Given the description of an element on the screen output the (x, y) to click on. 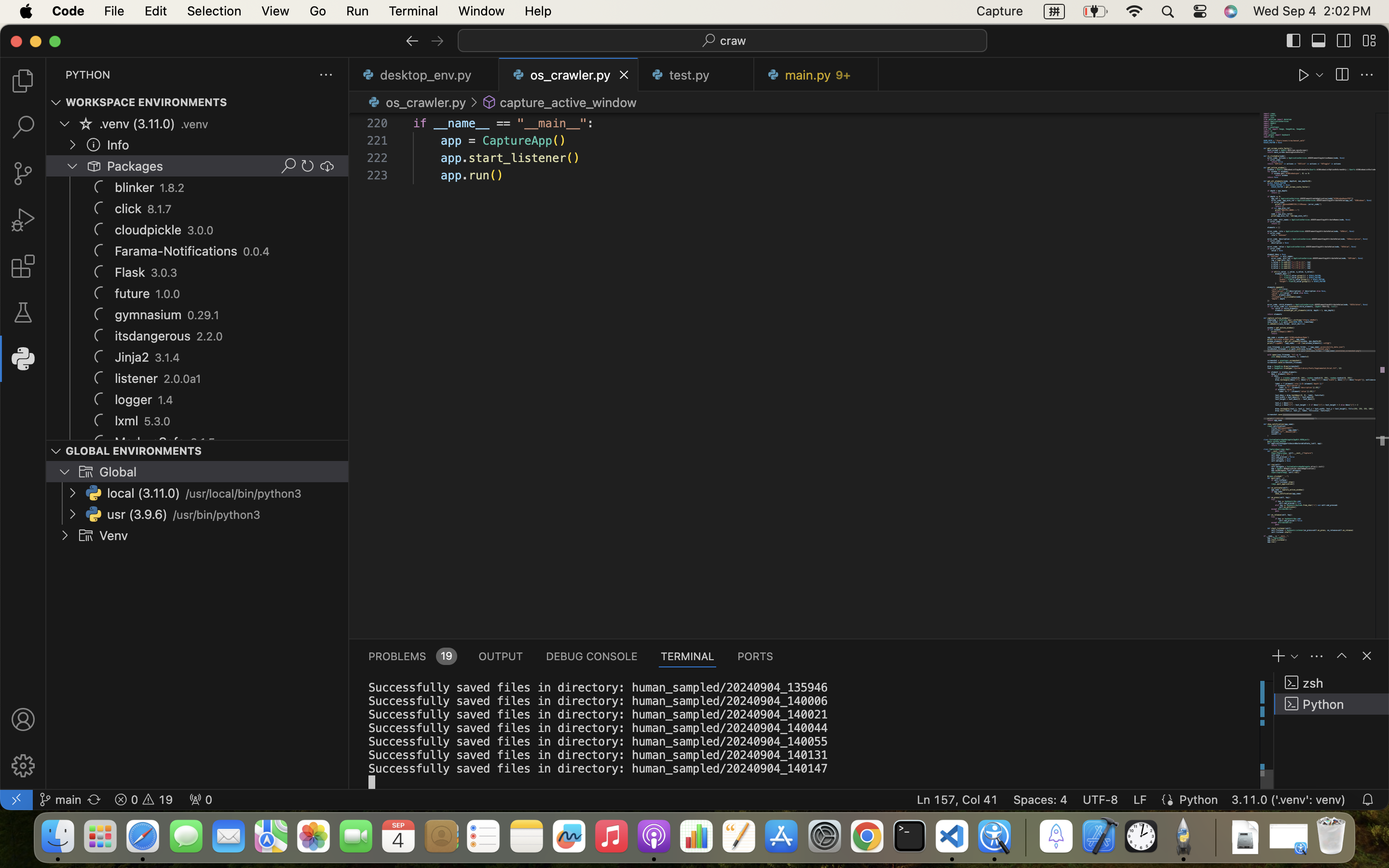
Info Element type: AXStaticText (118, 144)
logger Element type: AXStaticText (133, 399)
os_crawler.py  Element type: AXGroup (415, 101)
0.29.1 Element type: AXStaticText (203, 315)
0 main.py   9+ Element type: AXRadioButton (816, 74)
